Given the description of an element on the screen output the (x, y) to click on. 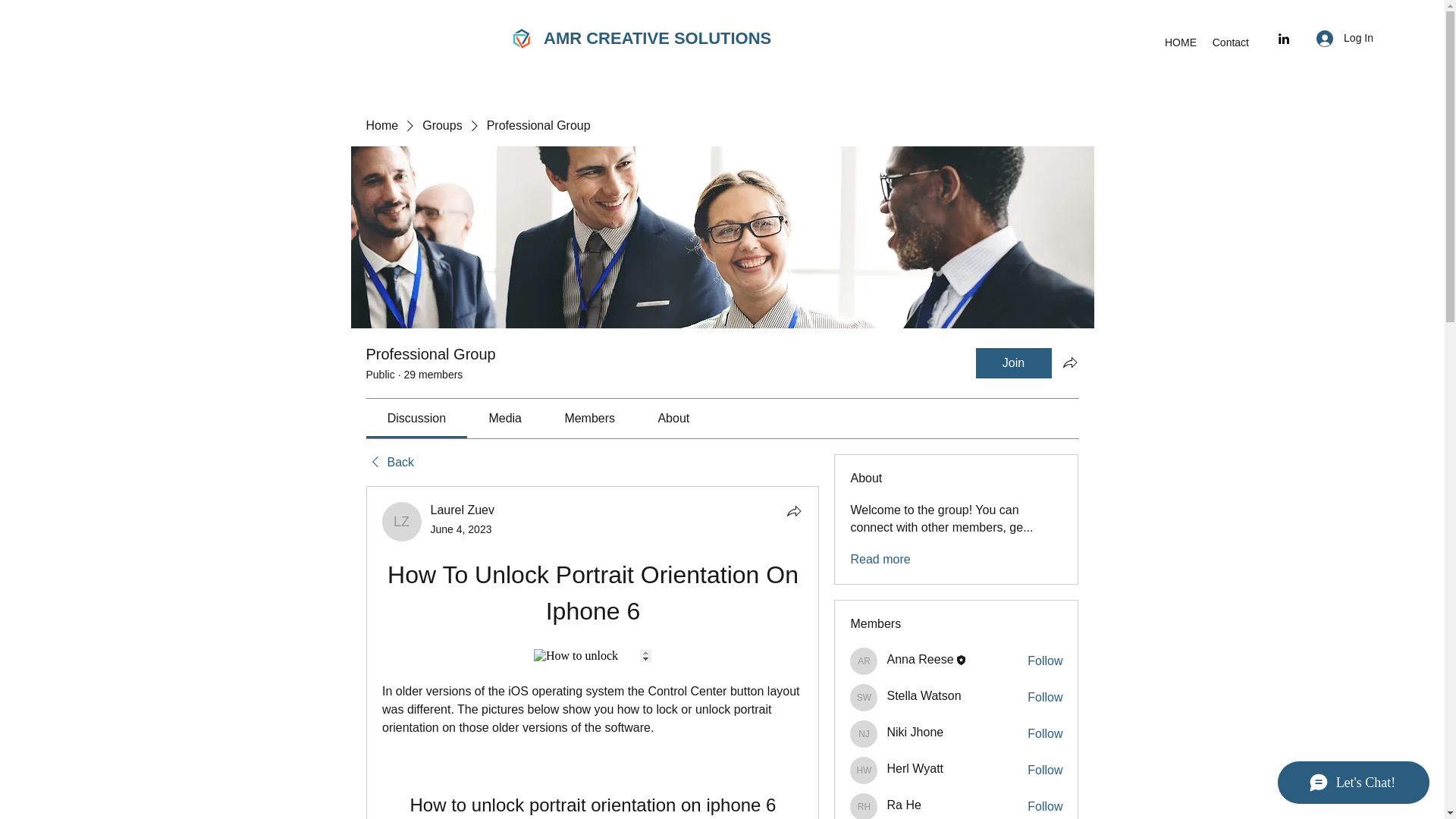
Log In (1345, 38)
Follow (1044, 697)
Anna Reese (863, 660)
Laurel Zuev (462, 509)
HOME (1180, 42)
Anna Reese (919, 658)
Niki Jhone (914, 731)
remote content (592, 655)
Stella Watson (923, 695)
June 4, 2023 (461, 529)
Herl Wyatt (914, 768)
AMR CREATIVE SOLUTIONS (657, 37)
Groups (441, 125)
Read more (880, 559)
Follow (1044, 806)
